Given the description of an element on the screen output the (x, y) to click on. 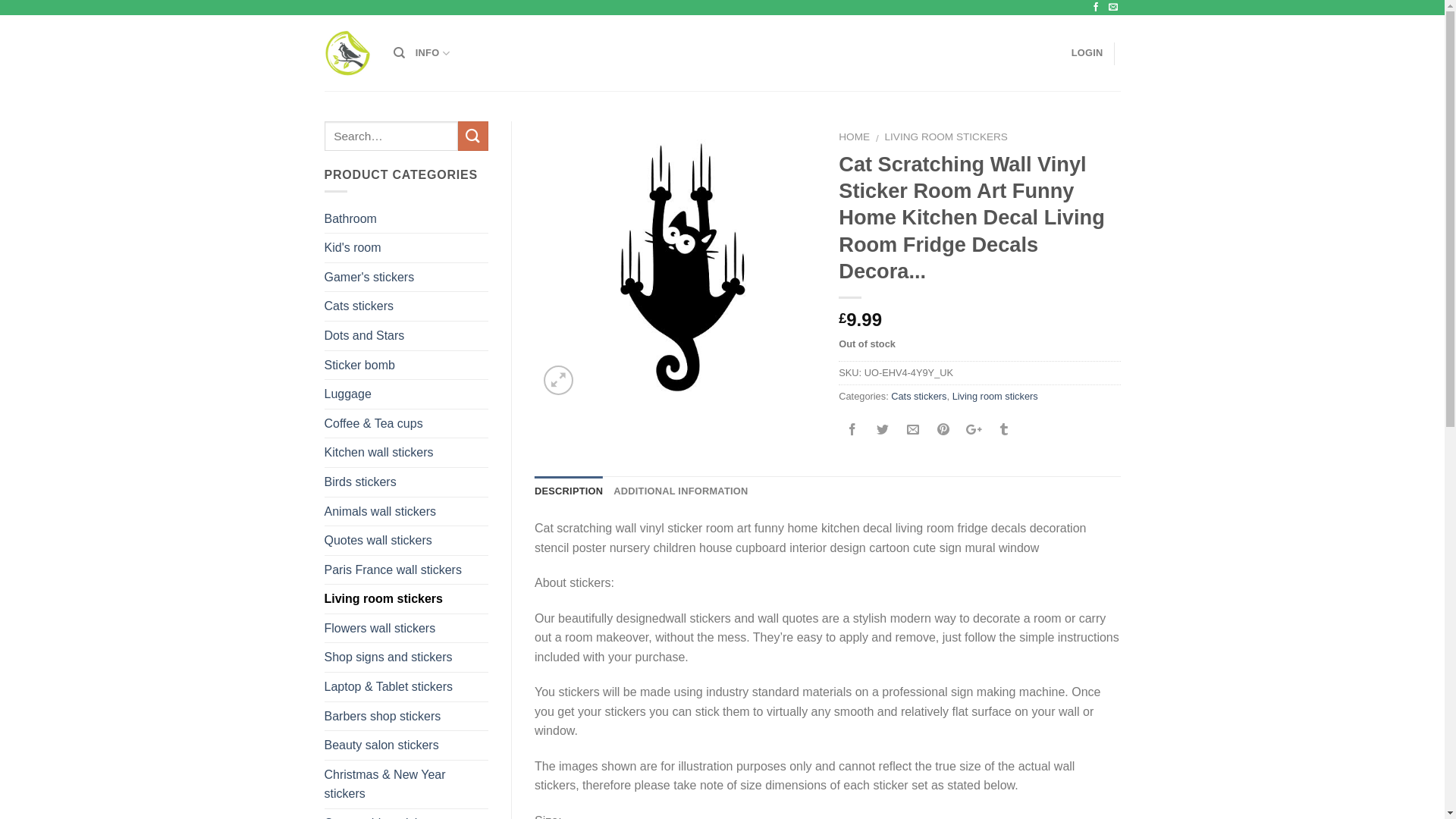
LOGIN (1087, 52)
Follow on Facebook (1096, 7)
DESCRIPTION (568, 490)
Living room stickers (995, 396)
ADDITIONAL INFORMATION (680, 490)
Email to a Friend (913, 430)
LIVING ROOM STICKERS (946, 136)
Cats stickers (918, 396)
Pin on Pinterest (943, 430)
 -  (347, 53)
HOME (853, 136)
Zoom (558, 379)
INFO (431, 52)
Share on Twitter (882, 430)
Share on Facebook (852, 430)
